Given the description of an element on the screen output the (x, y) to click on. 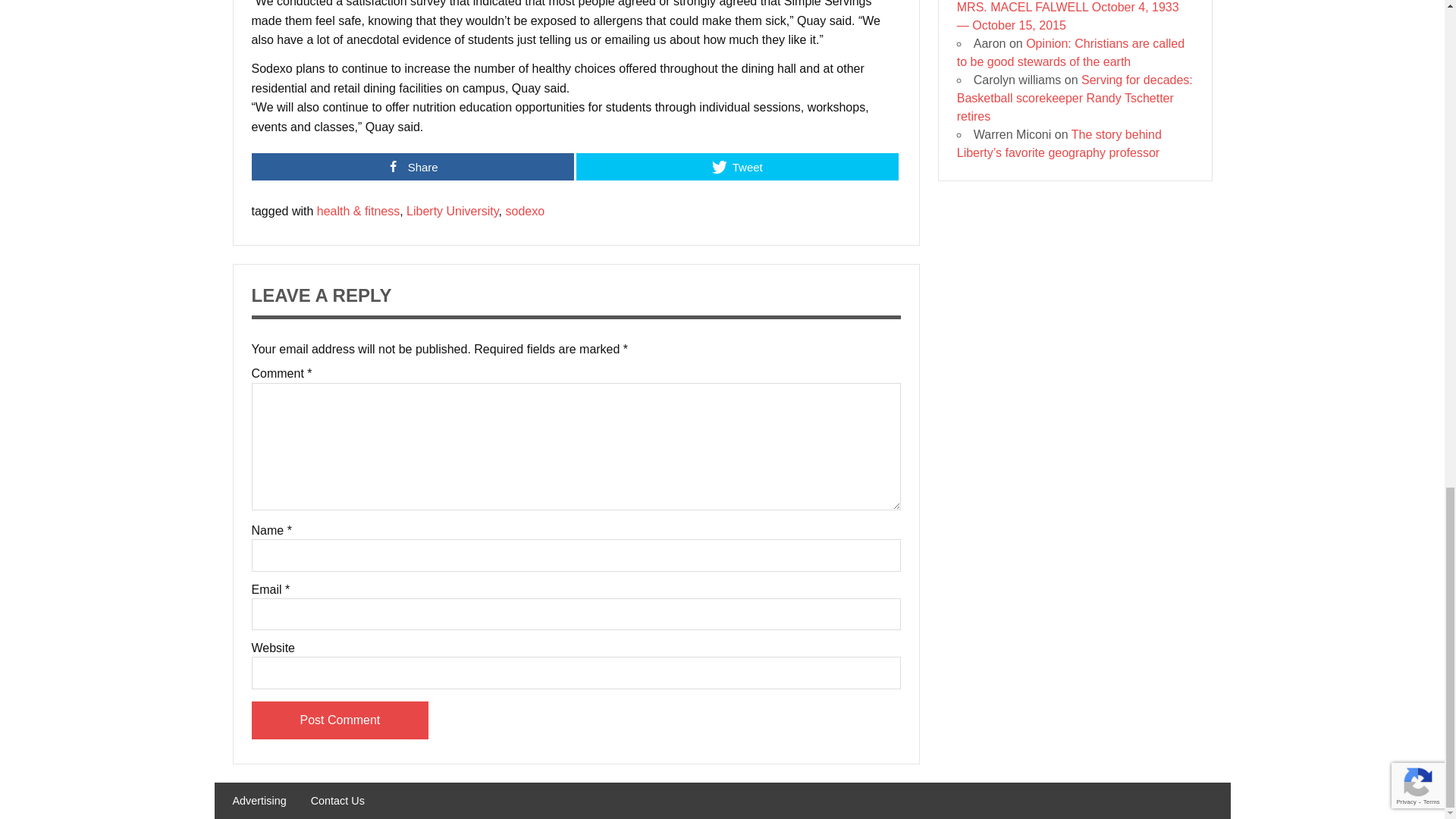
Post Comment (340, 720)
Post Comment (340, 720)
sodexo (524, 210)
Share (412, 166)
Liberty University (452, 210)
Tweet (737, 166)
